Given the description of an element on the screen output the (x, y) to click on. 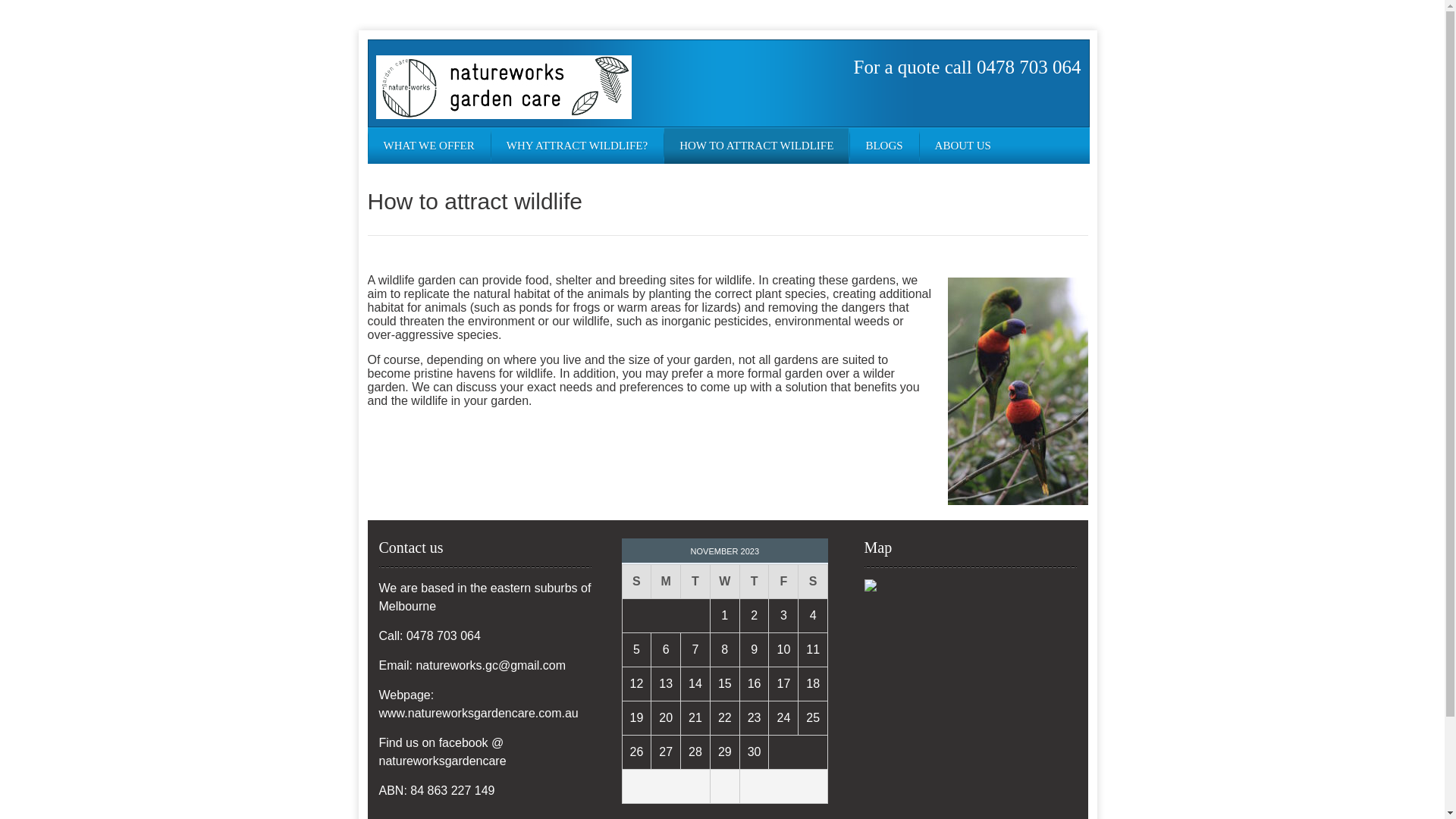
WHAT WE OFFER Element type: text (428, 145)
Click to open a larger map Element type: hover (870, 588)
HOW TO ATTRACT WILDLIFE Element type: text (756, 145)
Click to open a larger map Element type: hover (870, 585)
ABOUT US Element type: text (962, 145)
WHY ATTRACT WILDLIFE? Element type: text (576, 145)
BLOGS Element type: text (883, 145)
For a quote call 0478 703 064 Element type: text (967, 66)
